Given the description of an element on the screen output the (x, y) to click on. 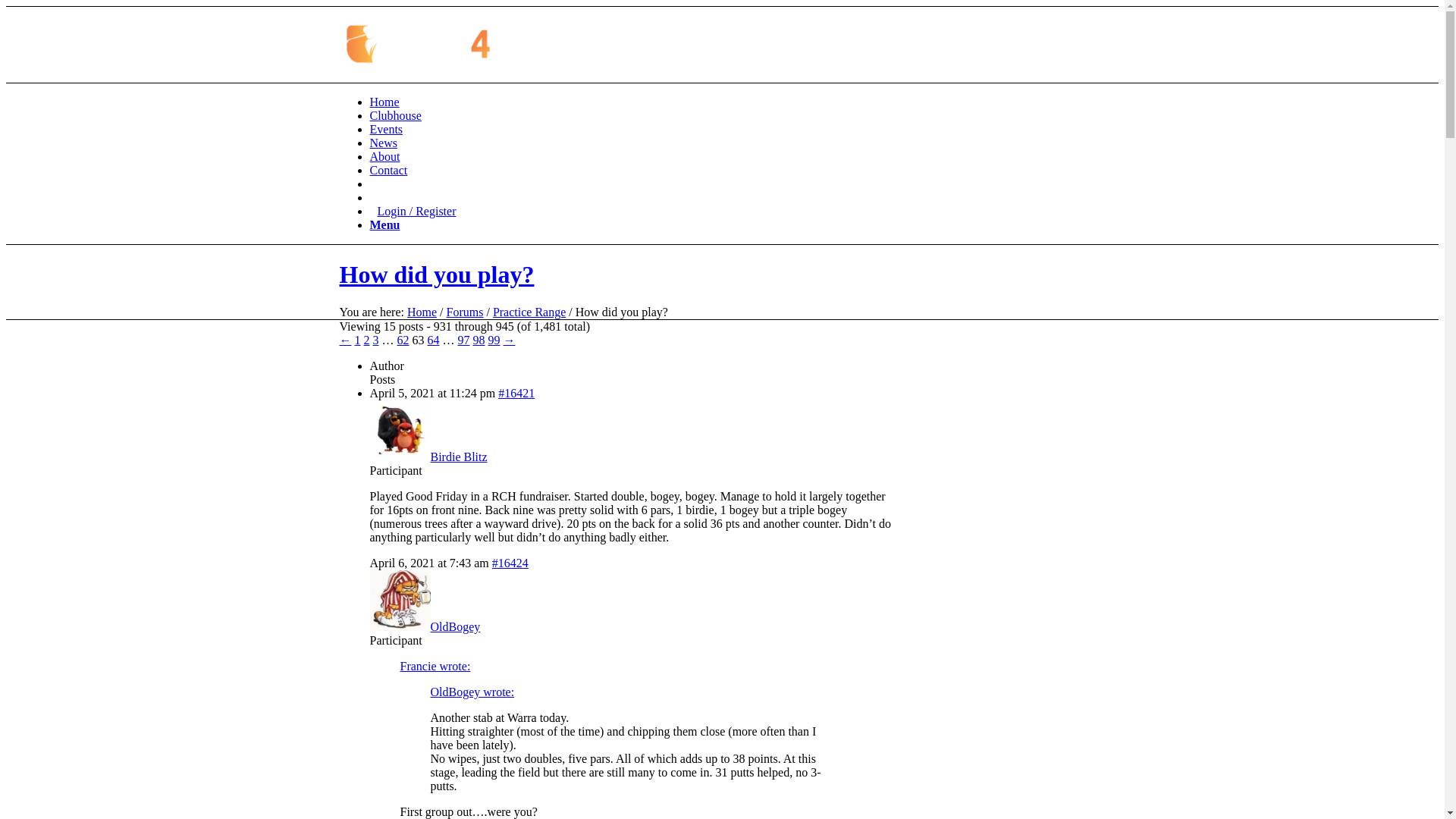
OldBogey Element type: text (425, 626)
Contact Element type: text (388, 169)
64 Element type: text (433, 339)
1 Element type: text (357, 339)
62 Element type: text (403, 339)
Forums Element type: text (464, 311)
Menu Element type: text (385, 224)
Home Element type: text (421, 311)
About Element type: text (385, 156)
#16421 Element type: text (516, 392)
Login / Register Element type: text (413, 210)
Francie wrote: Element type: text (435, 665)
3 Element type: text (376, 339)
Birdie Blitz Element type: text (428, 456)
OldBogey wrote: Element type: text (472, 691)
Events Element type: text (386, 128)
98 Element type: text (479, 339)
Practice Range Element type: text (528, 311)
News Element type: text (383, 142)
Home Element type: text (384, 101)
Clubhouse Element type: text (395, 115)
#16424 Element type: text (510, 562)
97 Element type: text (464, 339)
How did you play? Element type: text (436, 274)
99 Element type: text (494, 339)
2 Element type: text (367, 339)
